Given the description of an element on the screen output the (x, y) to click on. 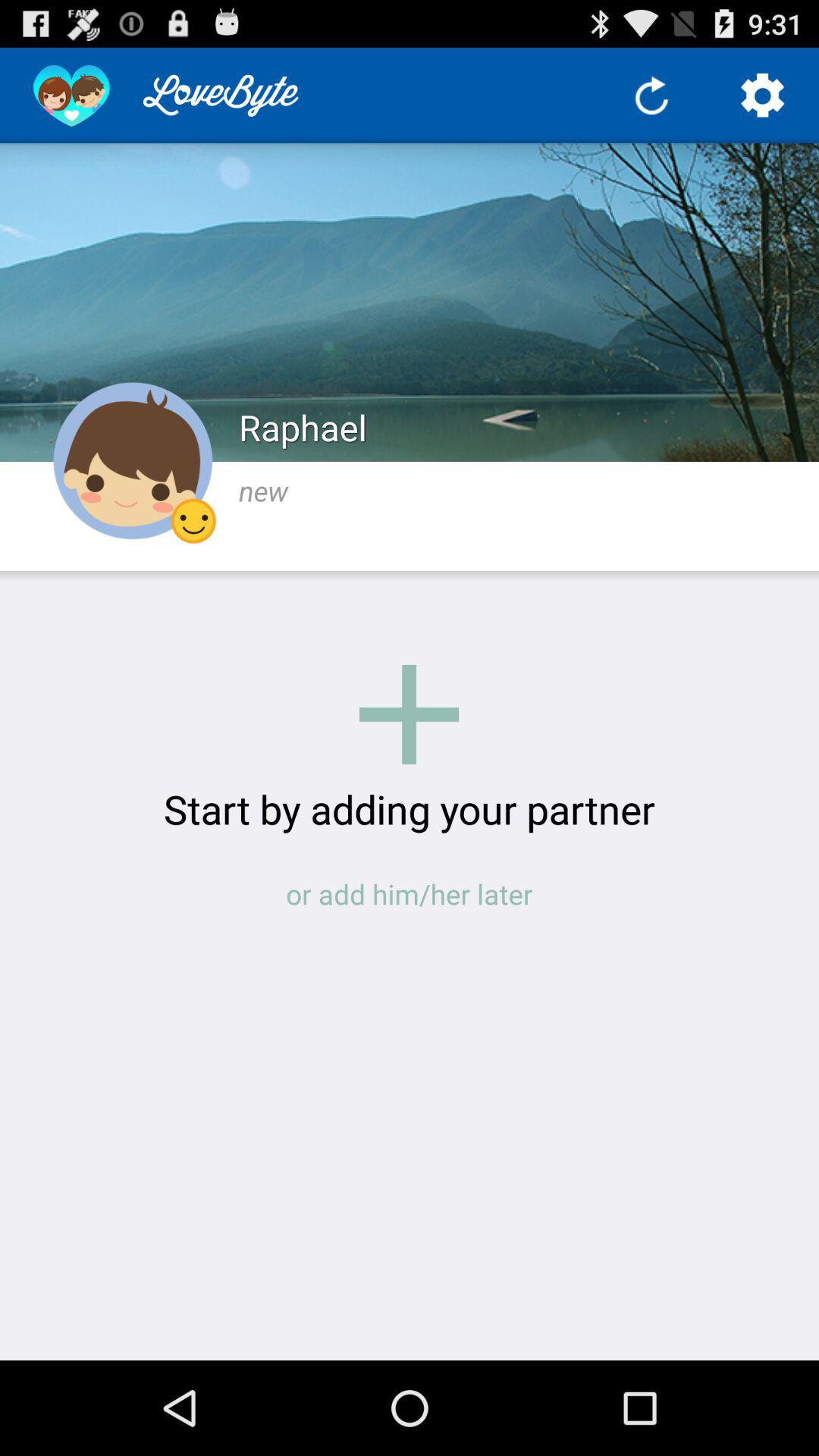
turn off the item above the or add him (409, 808)
